Given the description of an element on the screen output the (x, y) to click on. 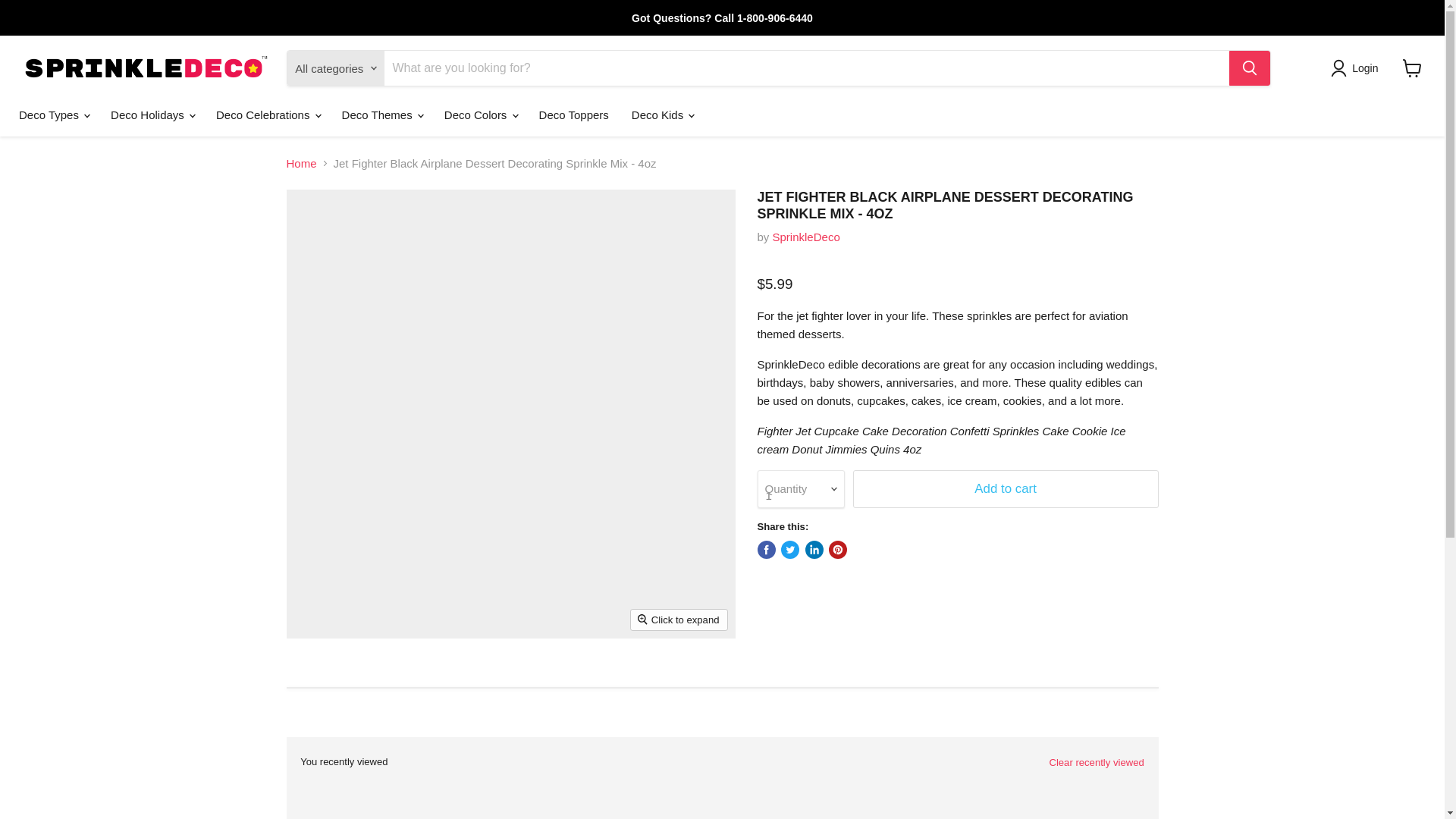
SprinkleDeco (806, 236)
Login (1365, 67)
View cart (1411, 68)
